Given the description of an element on the screen output the (x, y) to click on. 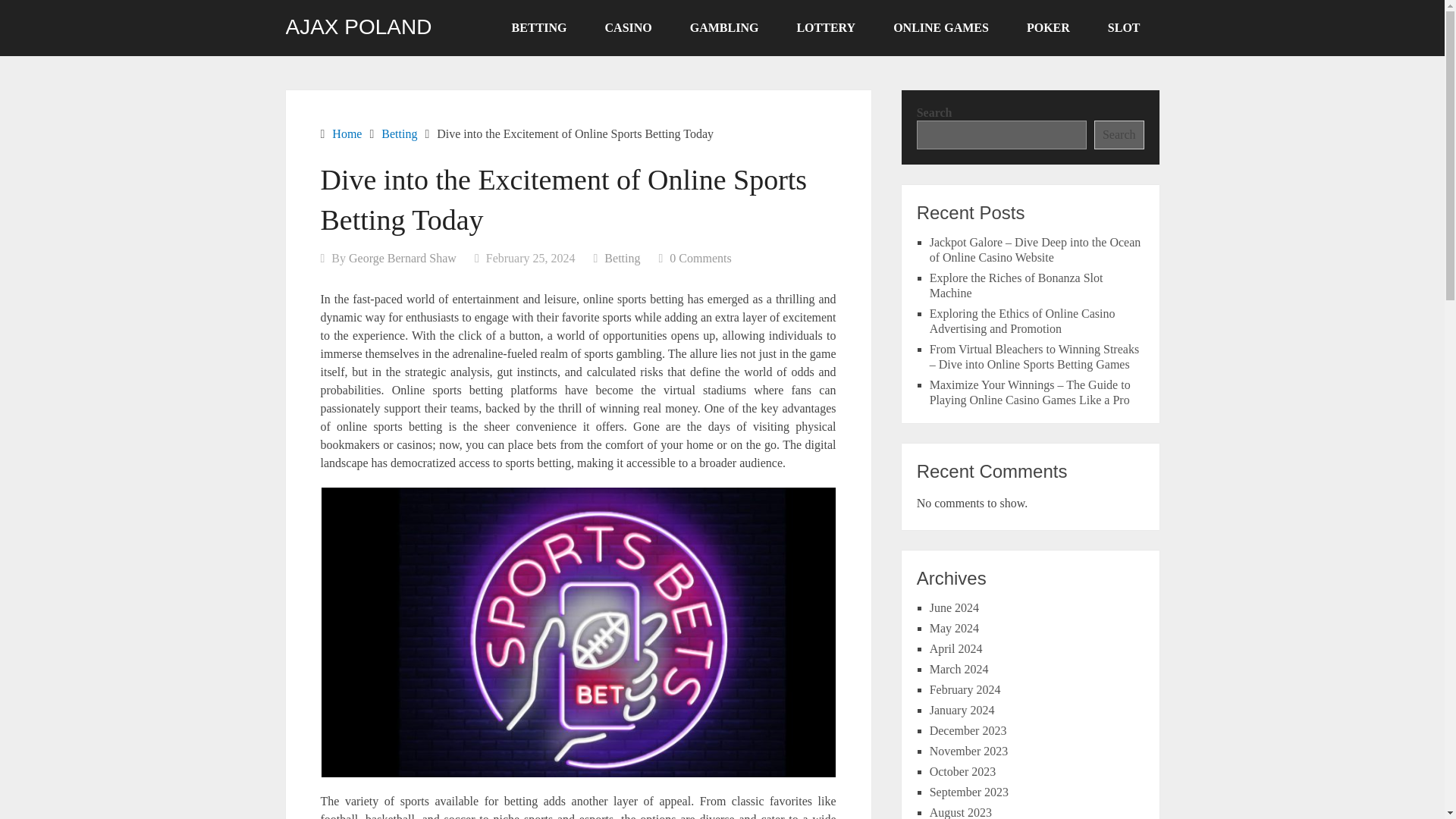
0 Comments (699, 257)
Posts by George Bernard Shaw (403, 257)
Home (346, 133)
February 2024 (965, 689)
Search (1119, 134)
December 2023 (968, 730)
April 2024 (956, 648)
SLOT (1123, 28)
October 2023 (962, 771)
CASINO (628, 28)
AJAX POLAND (357, 26)
BETTING (539, 28)
George Bernard Shaw (403, 257)
Betting (622, 257)
